Given the description of an element on the screen output the (x, y) to click on. 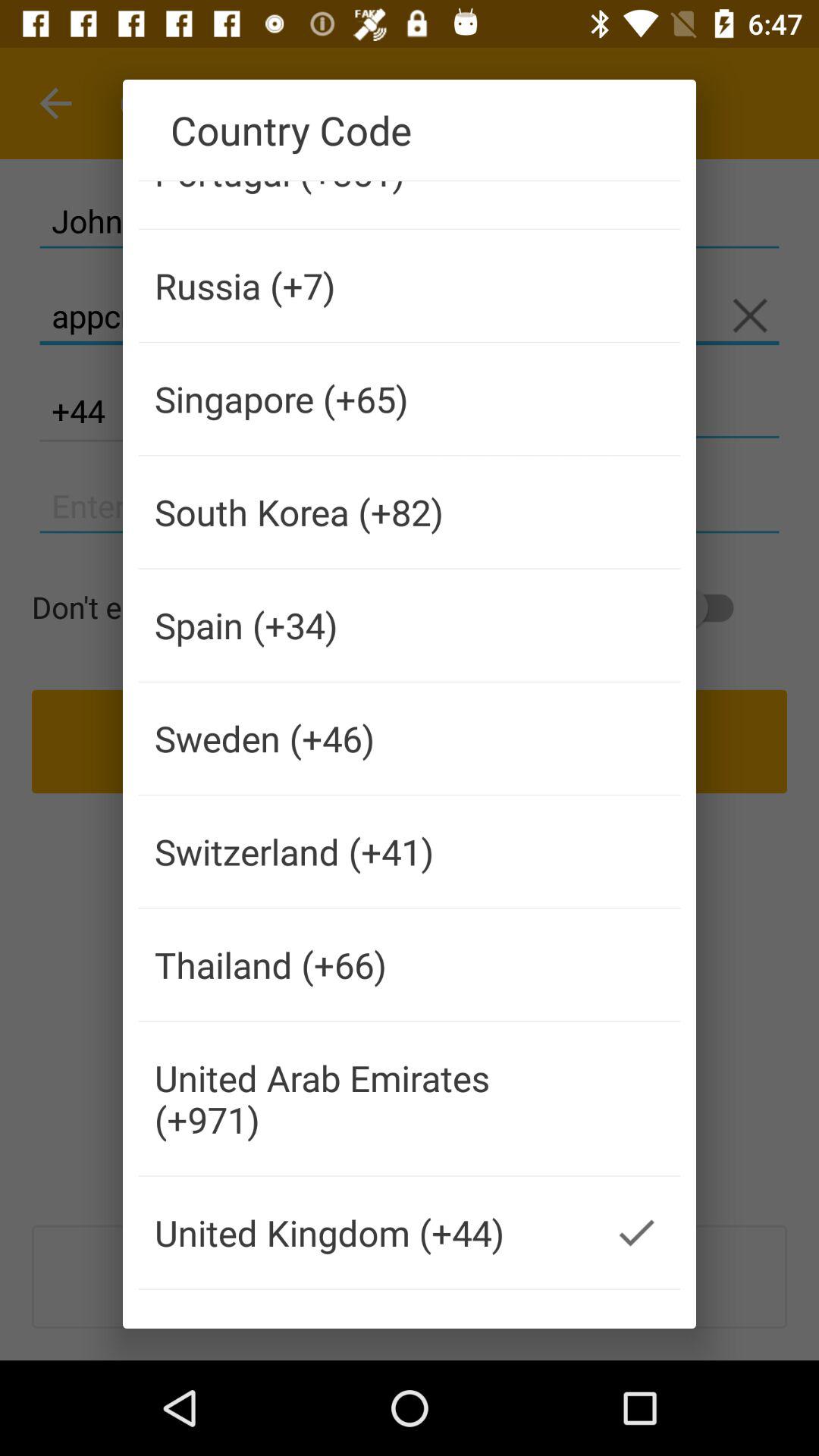
swipe until the switzerland (+41) (365, 851)
